Given the description of an element on the screen output the (x, y) to click on. 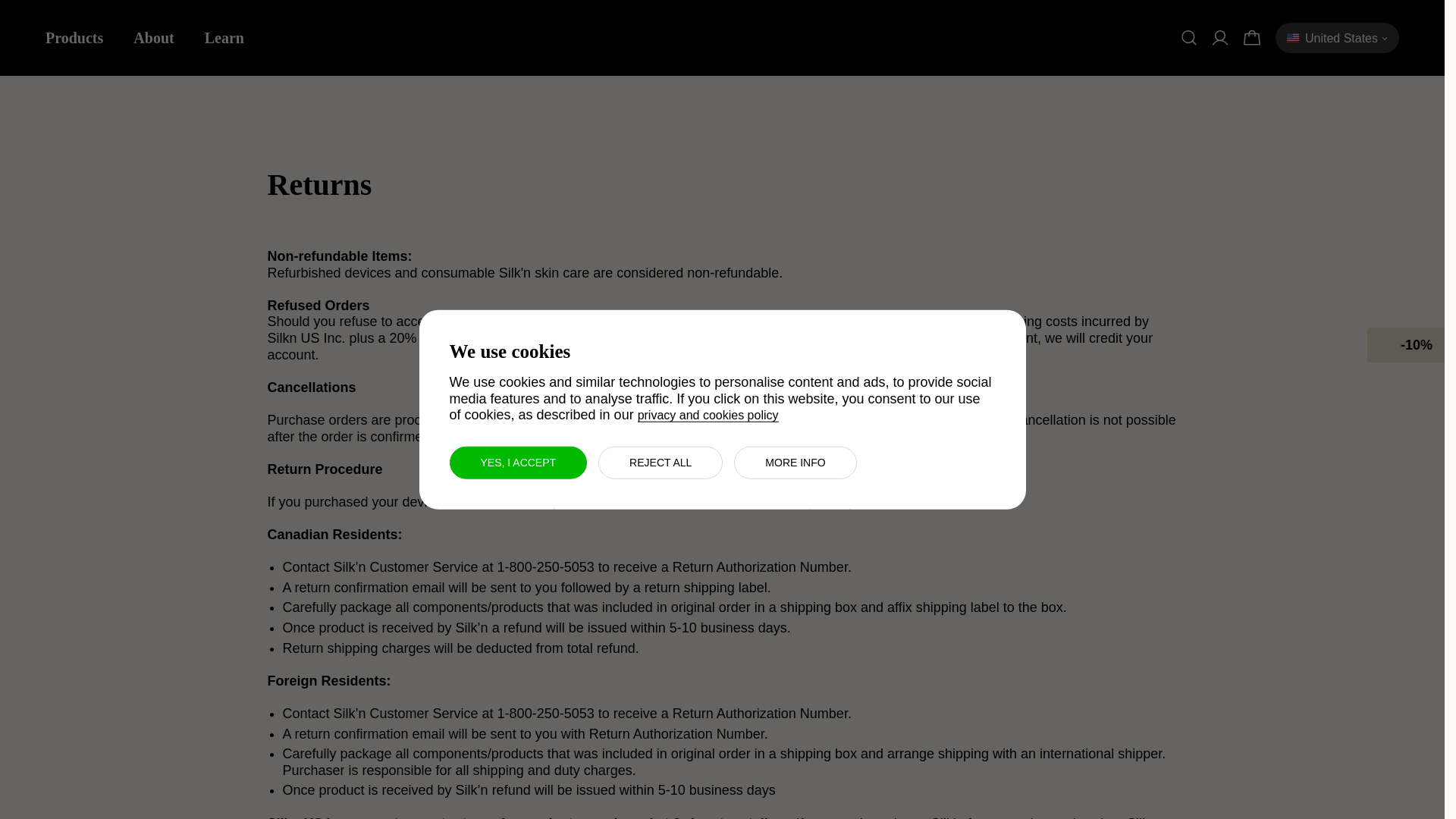
REJECT ALL (660, 461)
privacy and cookies policy (707, 415)
Silk'n (722, 37)
About (153, 38)
MORE INFO (794, 461)
envelope (1387, 344)
Learn (224, 38)
YES, I ACCEPT (517, 461)
